Given the description of an element on the screen output the (x, y) to click on. 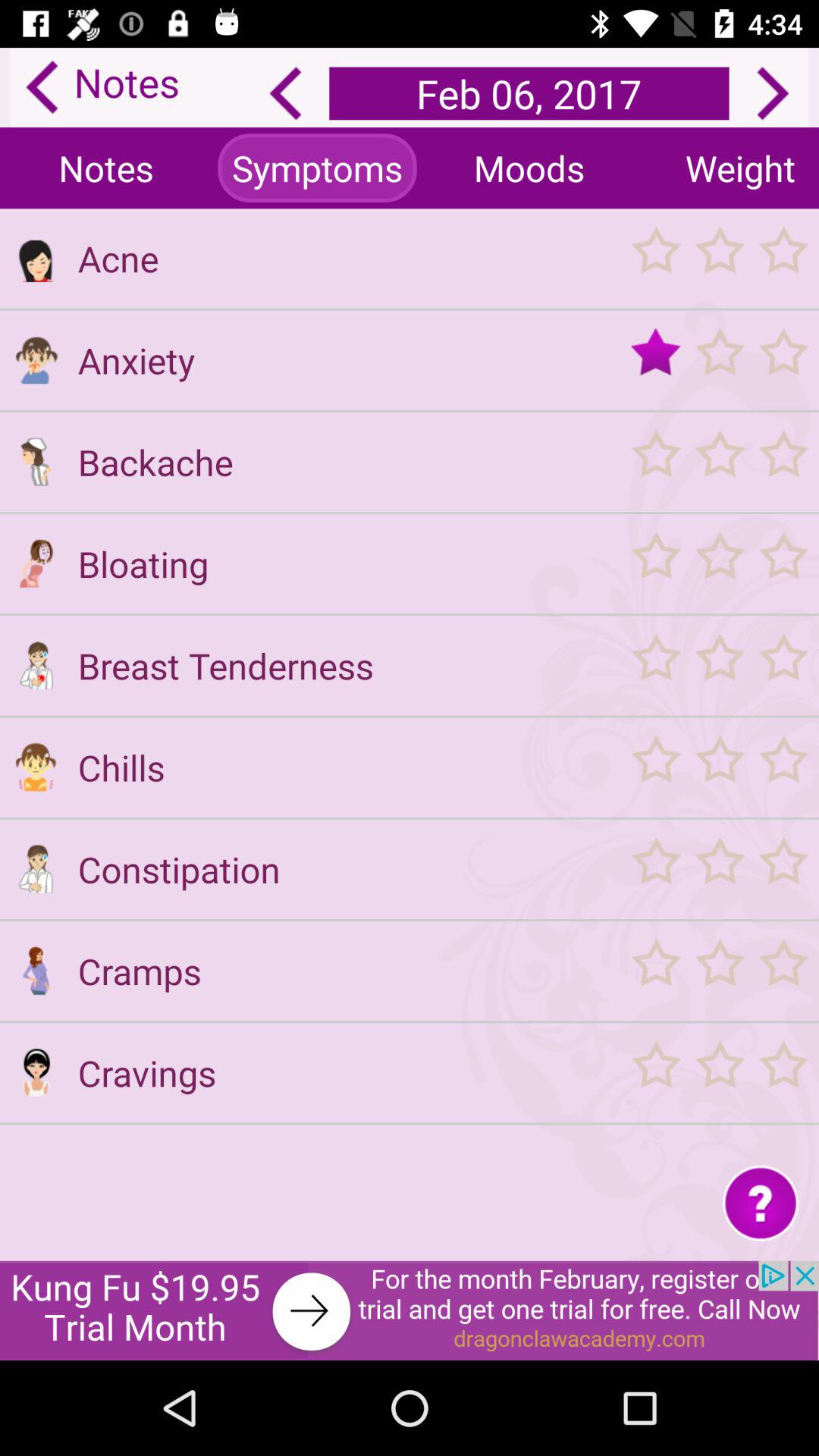
select an option (719, 258)
